Given the description of an element on the screen output the (x, y) to click on. 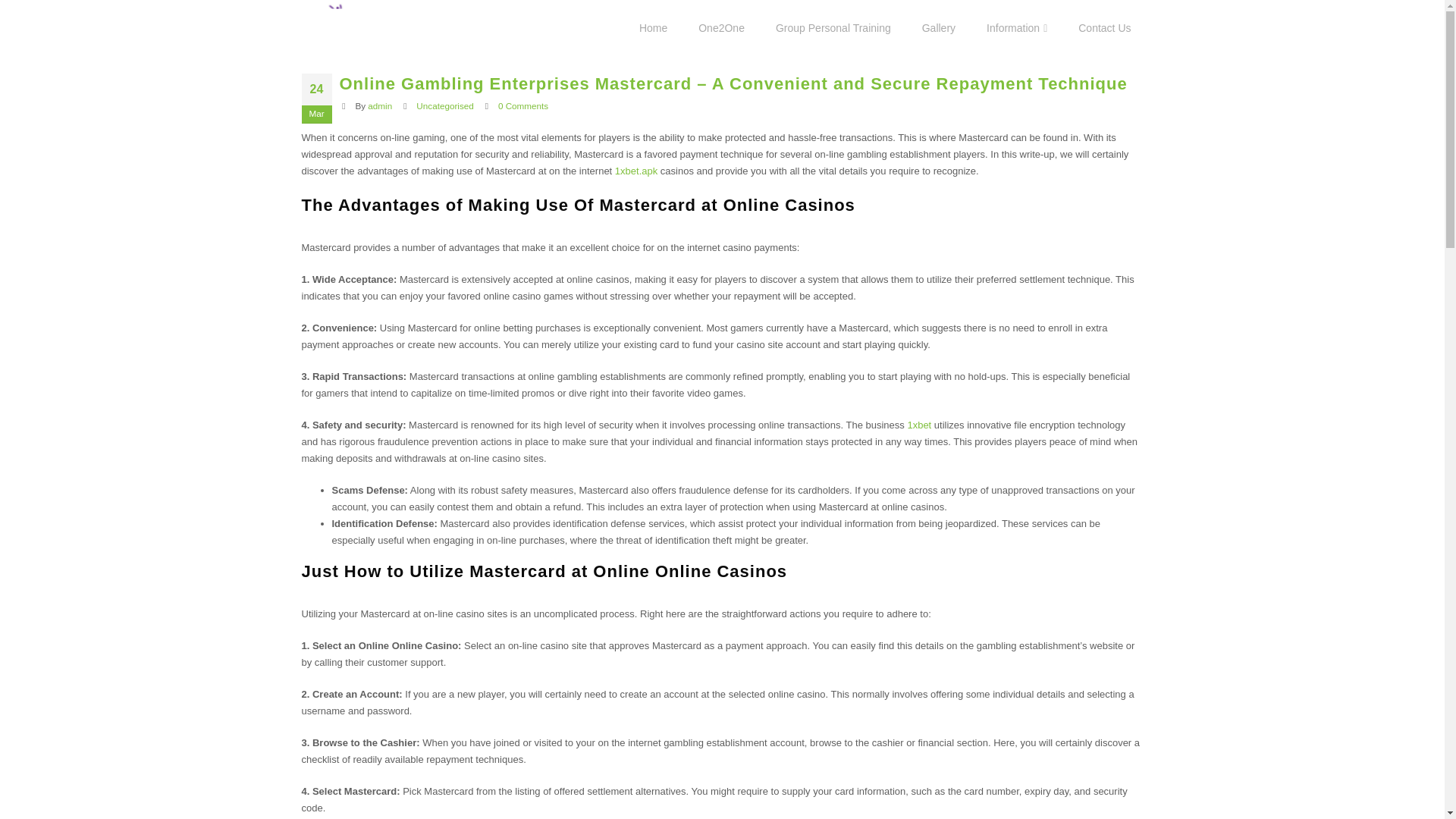
0 Comments (522, 105)
Information (1016, 29)
0 Comments (522, 105)
Gallery (939, 29)
1xbet (919, 424)
goodlife -  (355, 25)
1xbet.apk (636, 170)
Home (653, 29)
admin (379, 105)
One2One (721, 29)
